Given the description of an element on the screen output the (x, y) to click on. 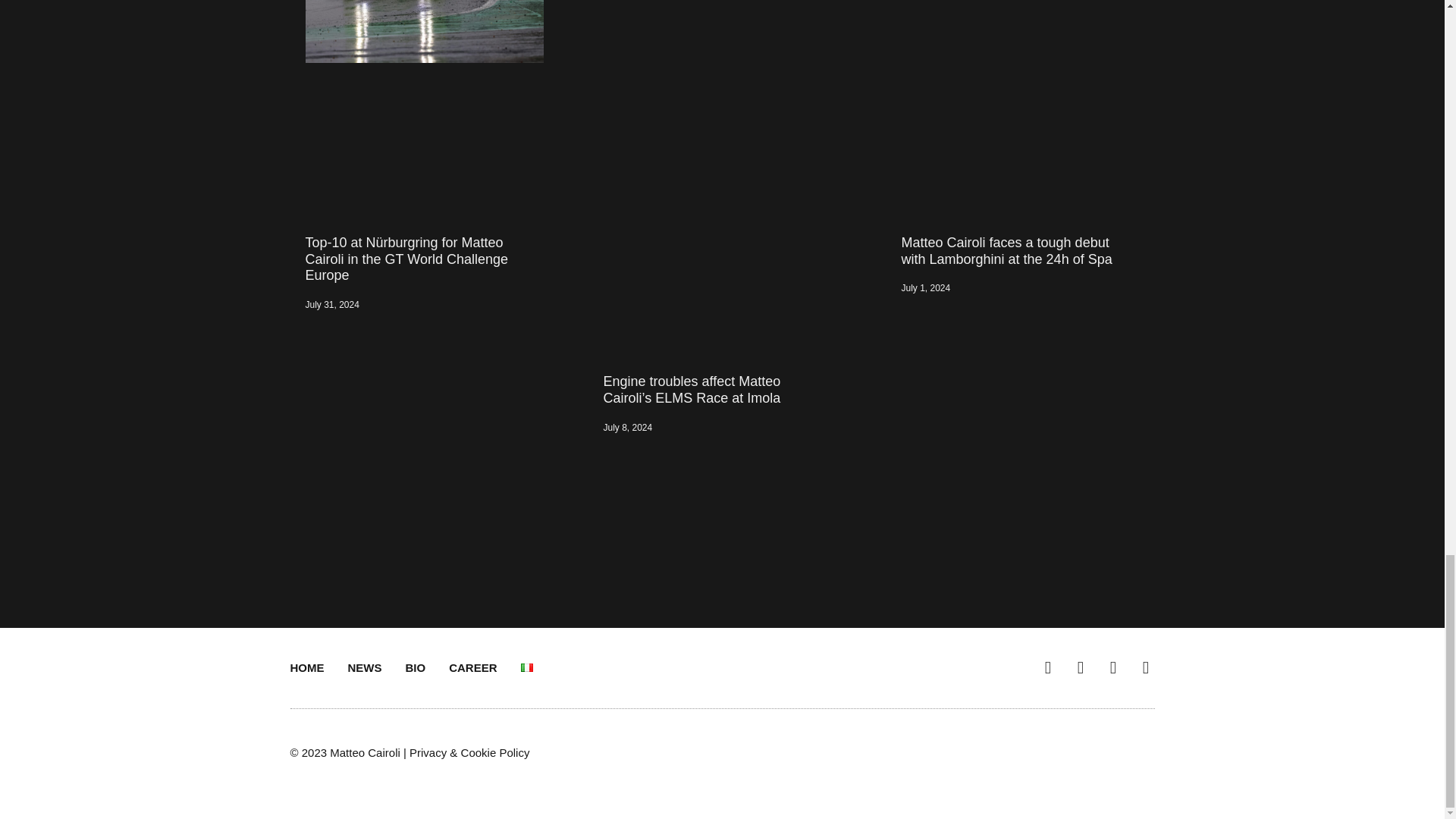
HOME (306, 667)
CAREER (472, 667)
NEWS (364, 667)
